Given the description of an element on the screen output the (x, y) to click on. 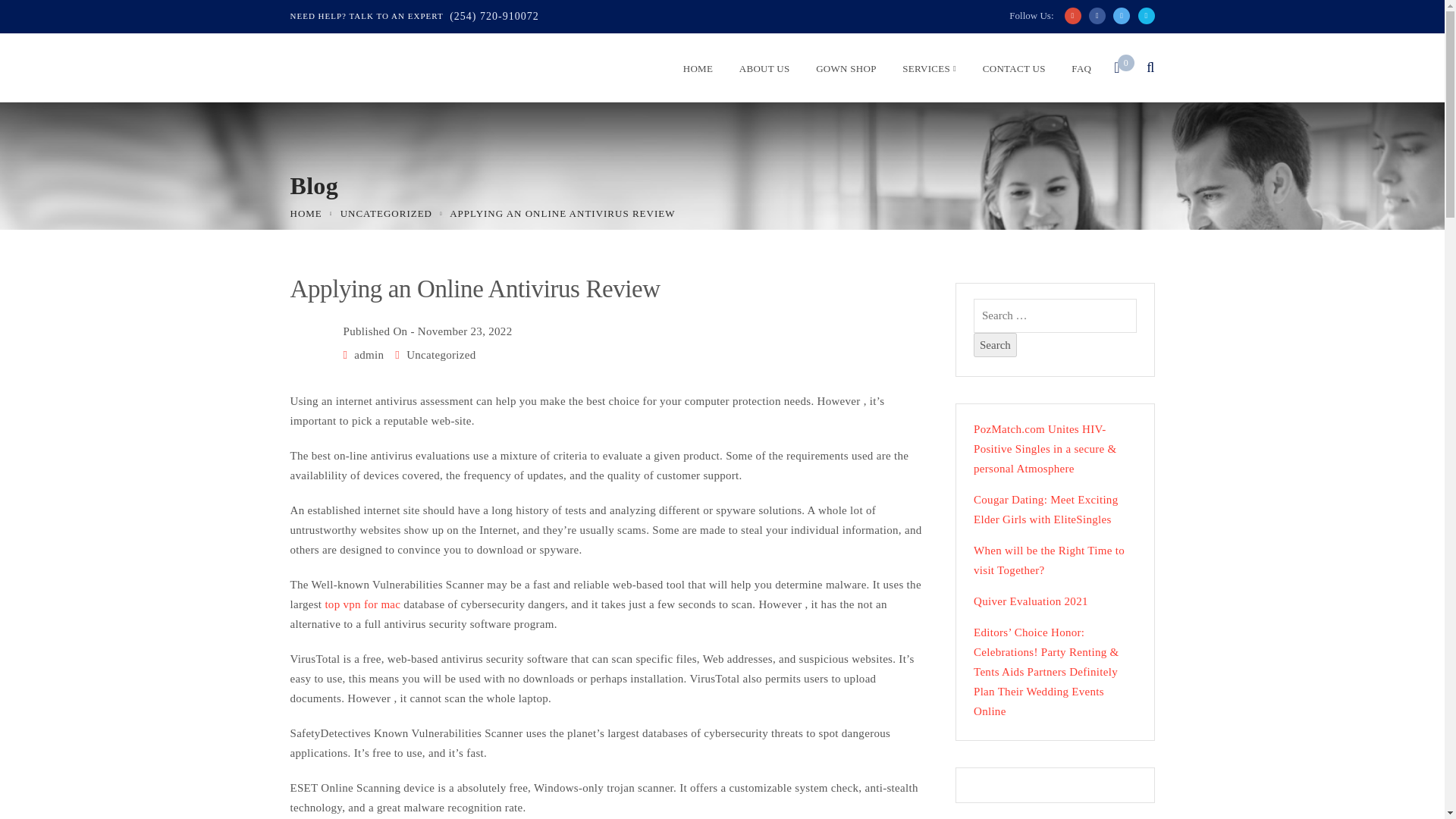
HOME (305, 213)
November 23, 2022 (464, 331)
When will be the Right Time to visit Together? (1055, 559)
FAQ (1076, 71)
Uncategorized (441, 354)
CONTACT US (1009, 71)
Search (995, 344)
GOWN SHOP (842, 71)
Search (995, 344)
Quiver Evaluation 2021 (1055, 600)
